Given the description of an element on the screen output the (x, y) to click on. 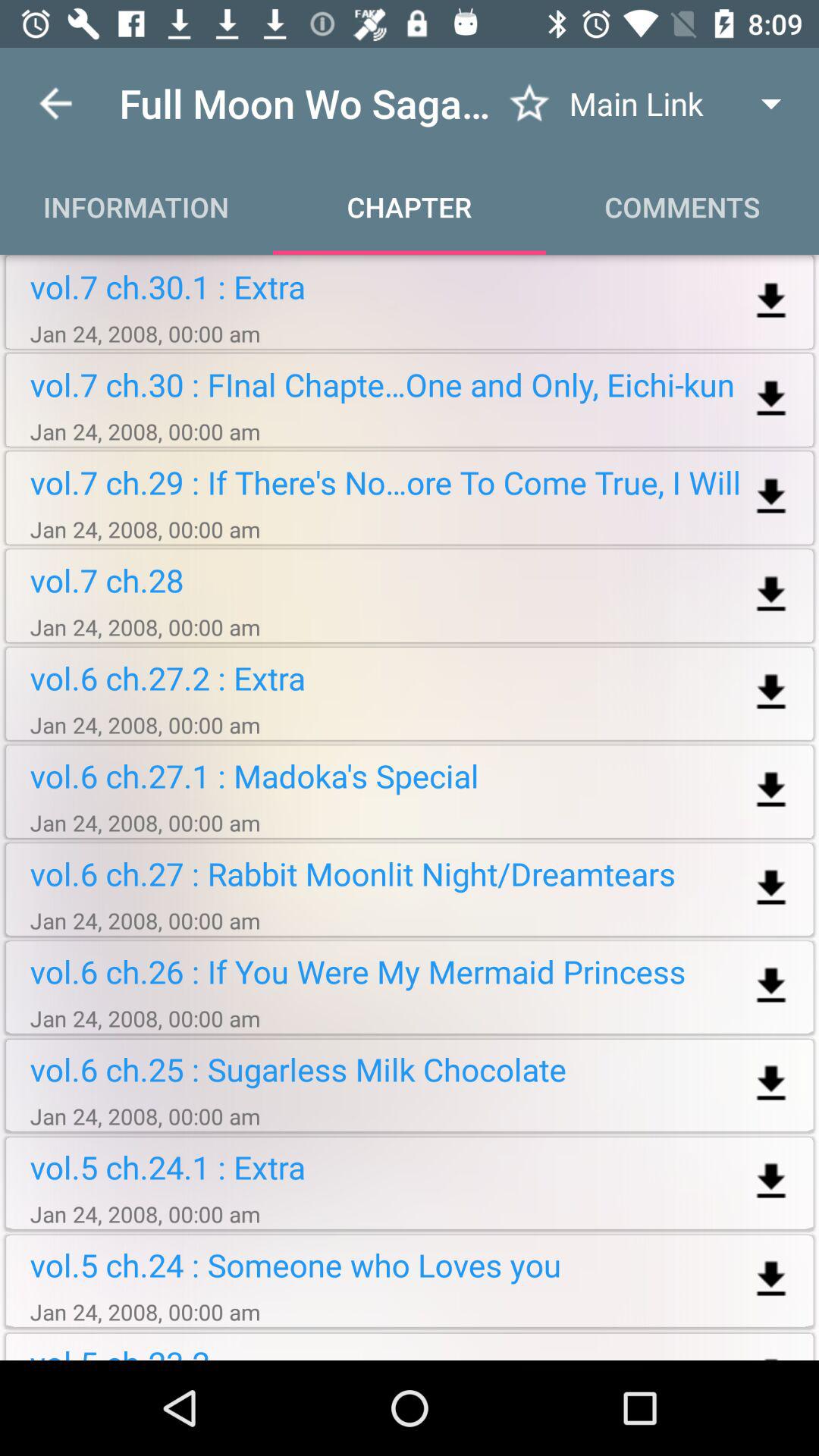
download button (771, 888)
